Given the description of an element on the screen output the (x, y) to click on. 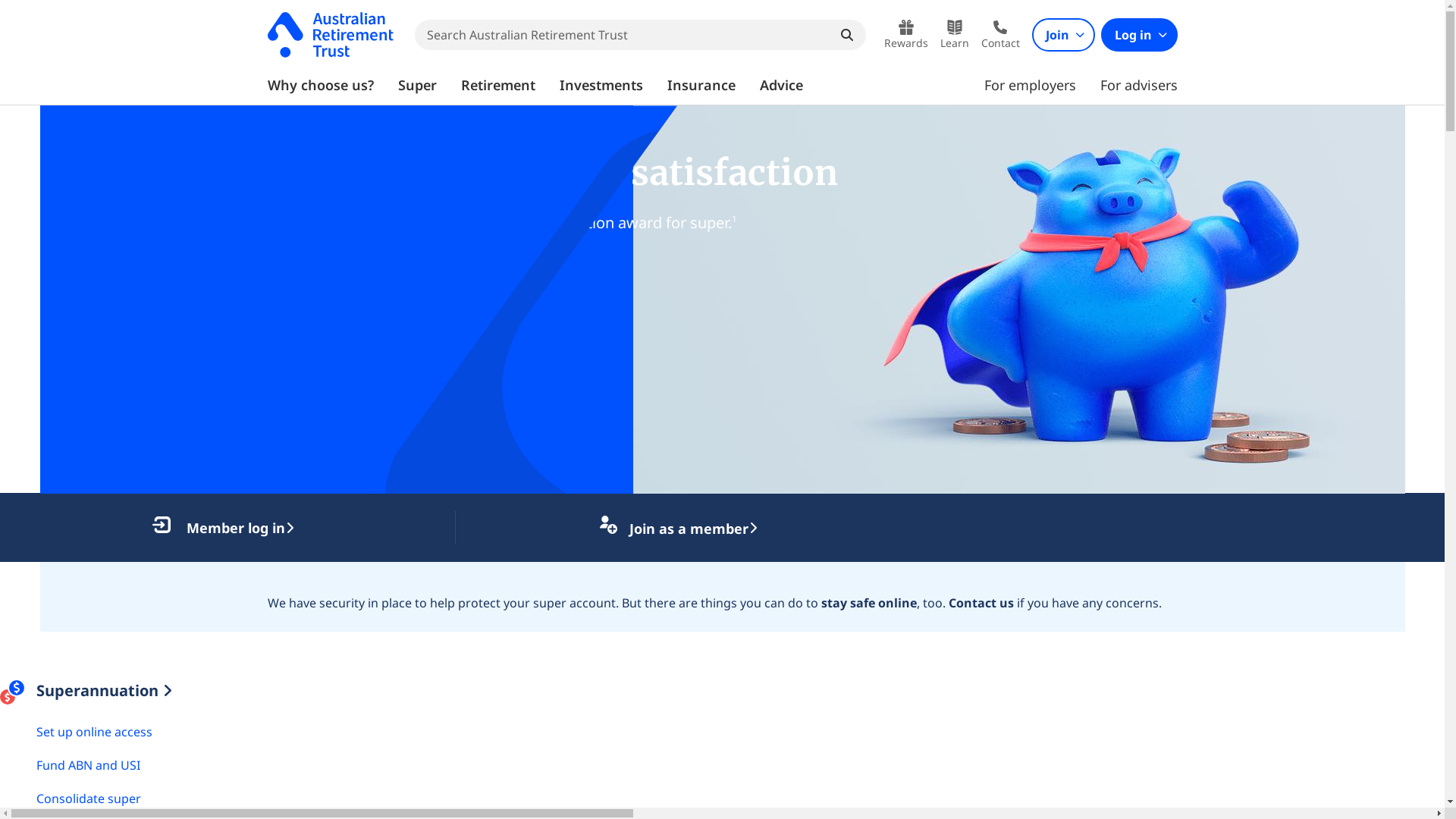
stay safe online Element type: text (868, 602)
Join Element type: text (1062, 34)
Set up online access Element type: text (94, 731)
Consolidate super Element type: text (88, 798)
Join as a member Element type: text (678, 526)
Contact us Element type: text (980, 602)
Contact Element type: text (1000, 34)
Rewards Element type: text (906, 34)
Member log in Element type: text (223, 526)
Learn Element type: text (954, 34)
Why choose us Element type: text (250, 279)
Log in Element type: text (1139, 34)
Fund ABN and USI Element type: text (88, 764)
Australian Retirement Trust - logo Element type: text (329, 34)
Join today Element type: text (99, 279)
Superannuation Element type: text (104, 690)
